Given the description of an element on the screen output the (x, y) to click on. 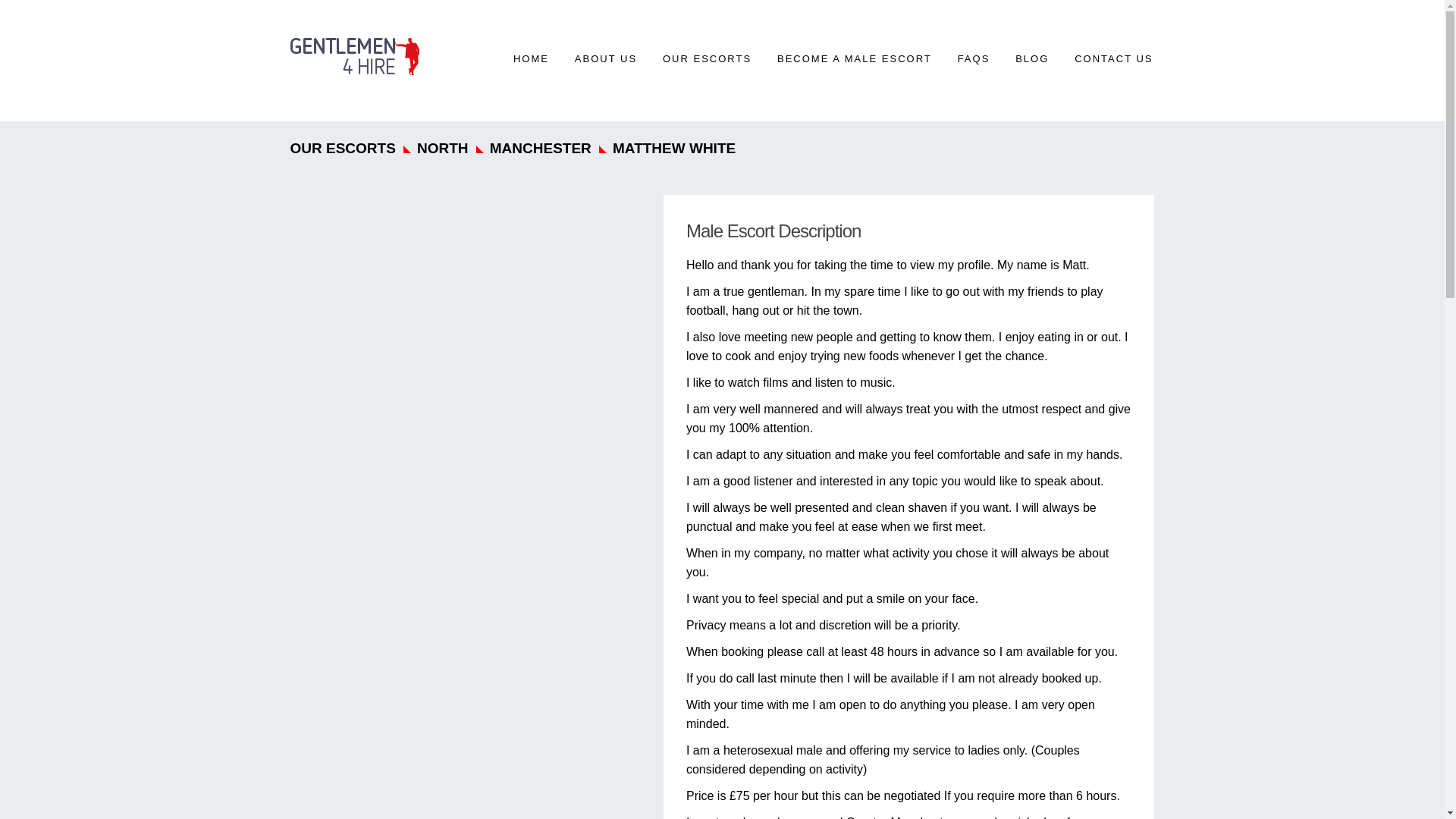
About Us (605, 58)
Contact Us (1112, 58)
Gentlemen 4 Hire (354, 55)
OUR ESCORTS (706, 58)
FAQs (973, 58)
Our Escorts (706, 58)
Home (531, 58)
Blog (1031, 58)
Become a Male Escort (854, 58)
ABOUT US (605, 58)
